Given the description of an element on the screen output the (x, y) to click on. 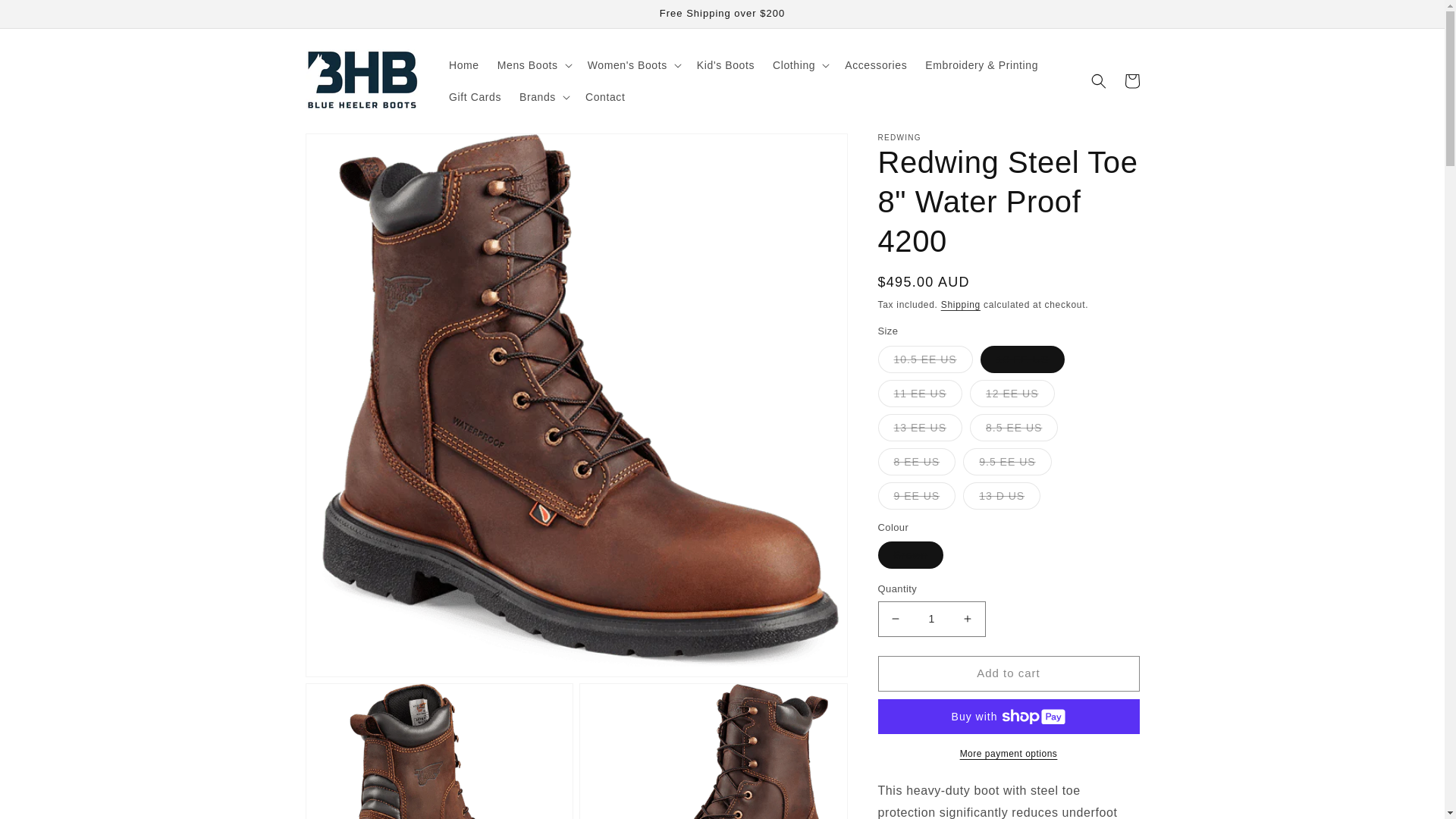
1 (931, 619)
Skip to content (45, 17)
